Given the description of an element on the screen output the (x, y) to click on. 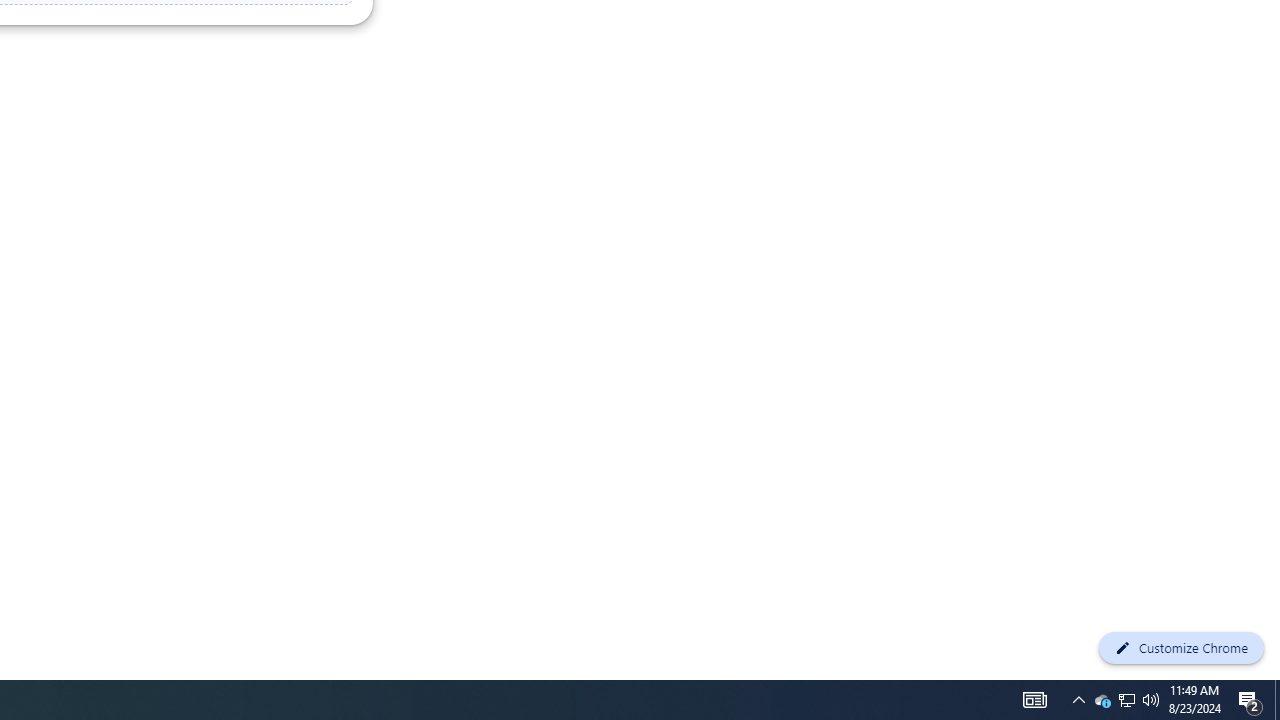
Customize Chrome (1181, 647)
